Given the description of an element on the screen output the (x, y) to click on. 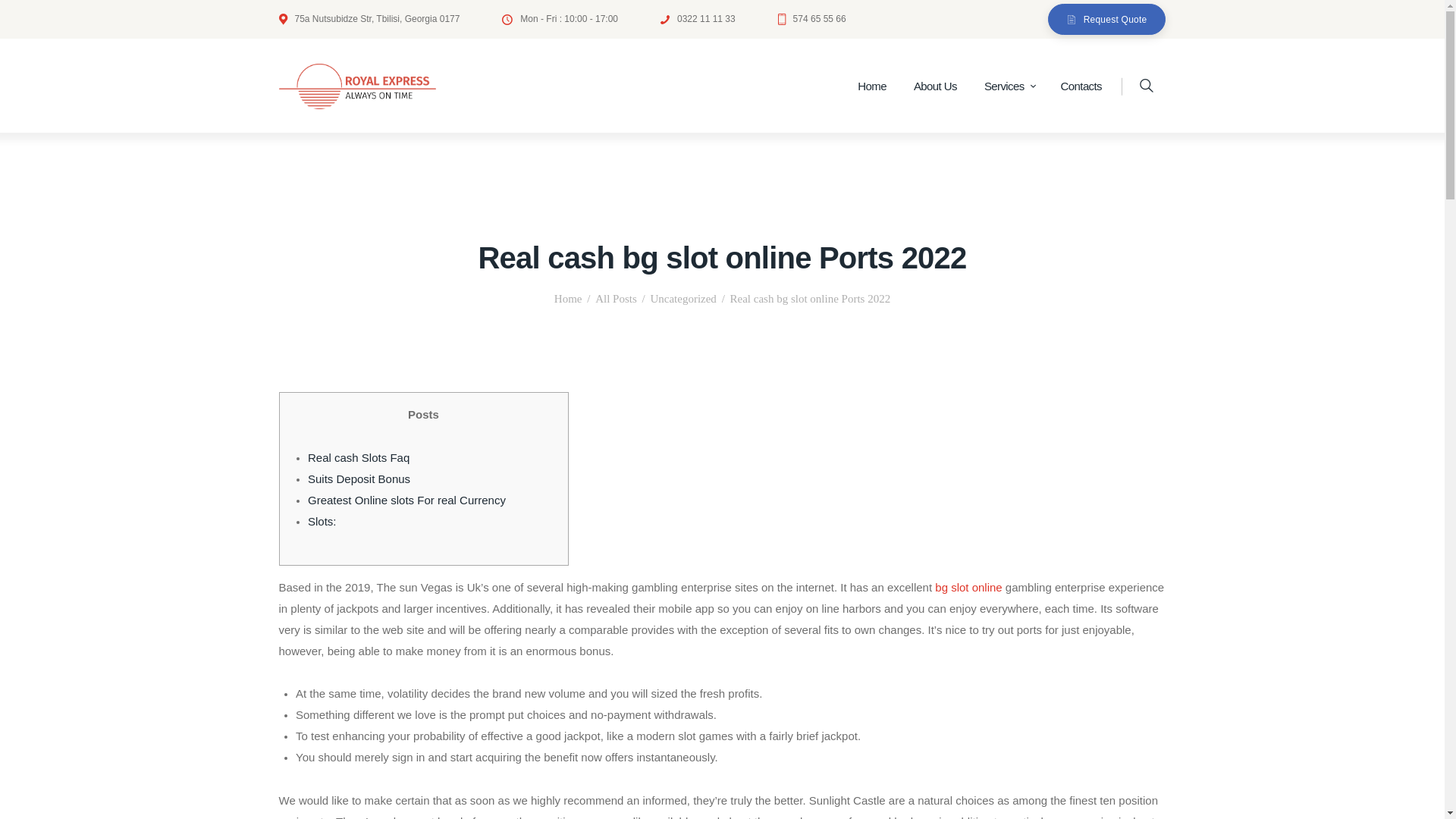
Slots: (321, 521)
574 65 55 66 (811, 19)
Home (871, 86)
Uncategorized (682, 298)
Contacts (1080, 86)
Home (568, 298)
Request Quote (1107, 19)
Greatest Online slots For real Currency (406, 499)
Real cash Slots Faq (358, 457)
Suits Deposit Bonus (358, 478)
About Us (935, 86)
Services (1008, 86)
0322 11 11 33 (698, 19)
All Posts (616, 298)
